Given the description of an element on the screen output the (x, y) to click on. 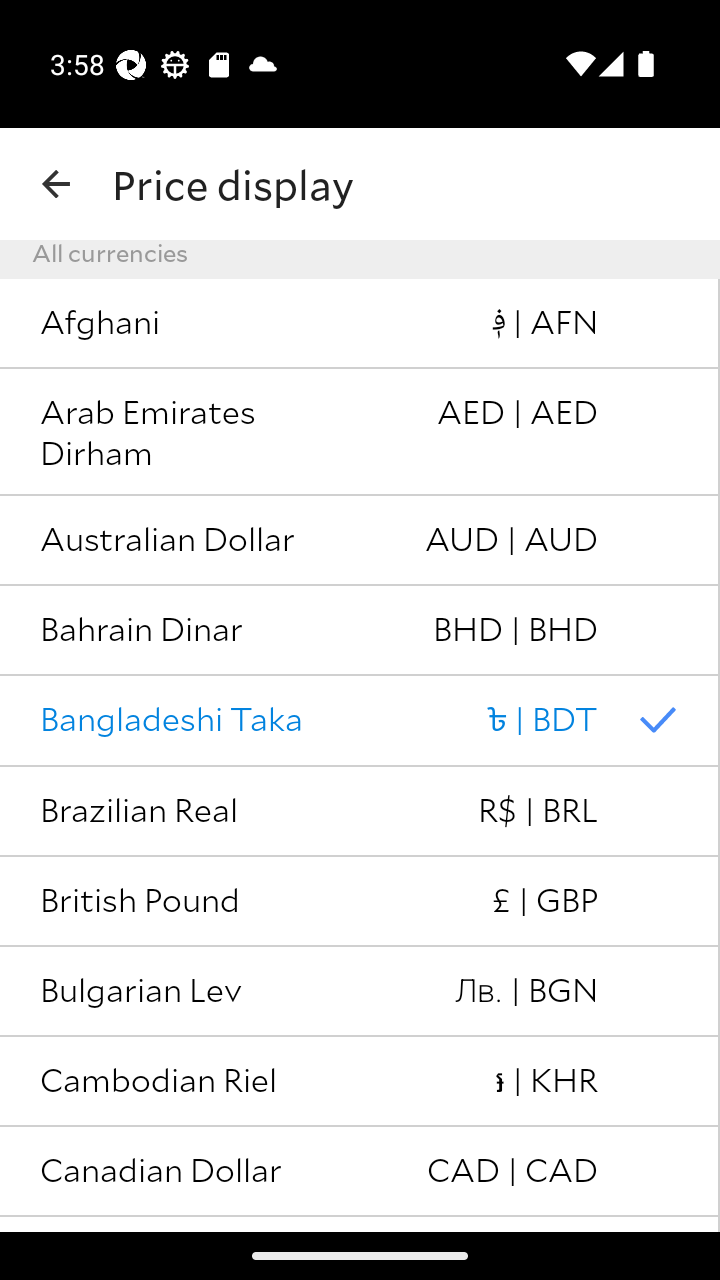
navigation_button (56, 184)
Afghani ‎؋ | AFN (360, 323)
Arab Emirates Dirham AED | AED (360, 432)
Australian Dollar AUD | AUD (360, 541)
Bahrain Dinar BHD | BHD (360, 630)
Bangladeshi Taka ৳ | BDT (360, 720)
Brazilian Real R$ | BRL (360, 811)
British Pound £ | GBP (360, 902)
Bulgarian Lev Лв. | BGN (360, 991)
Cambodian Riel ៛ | KHR (360, 1081)
Canadian Dollar CAD | CAD (360, 1171)
